Given the description of an element on the screen output the (x, y) to click on. 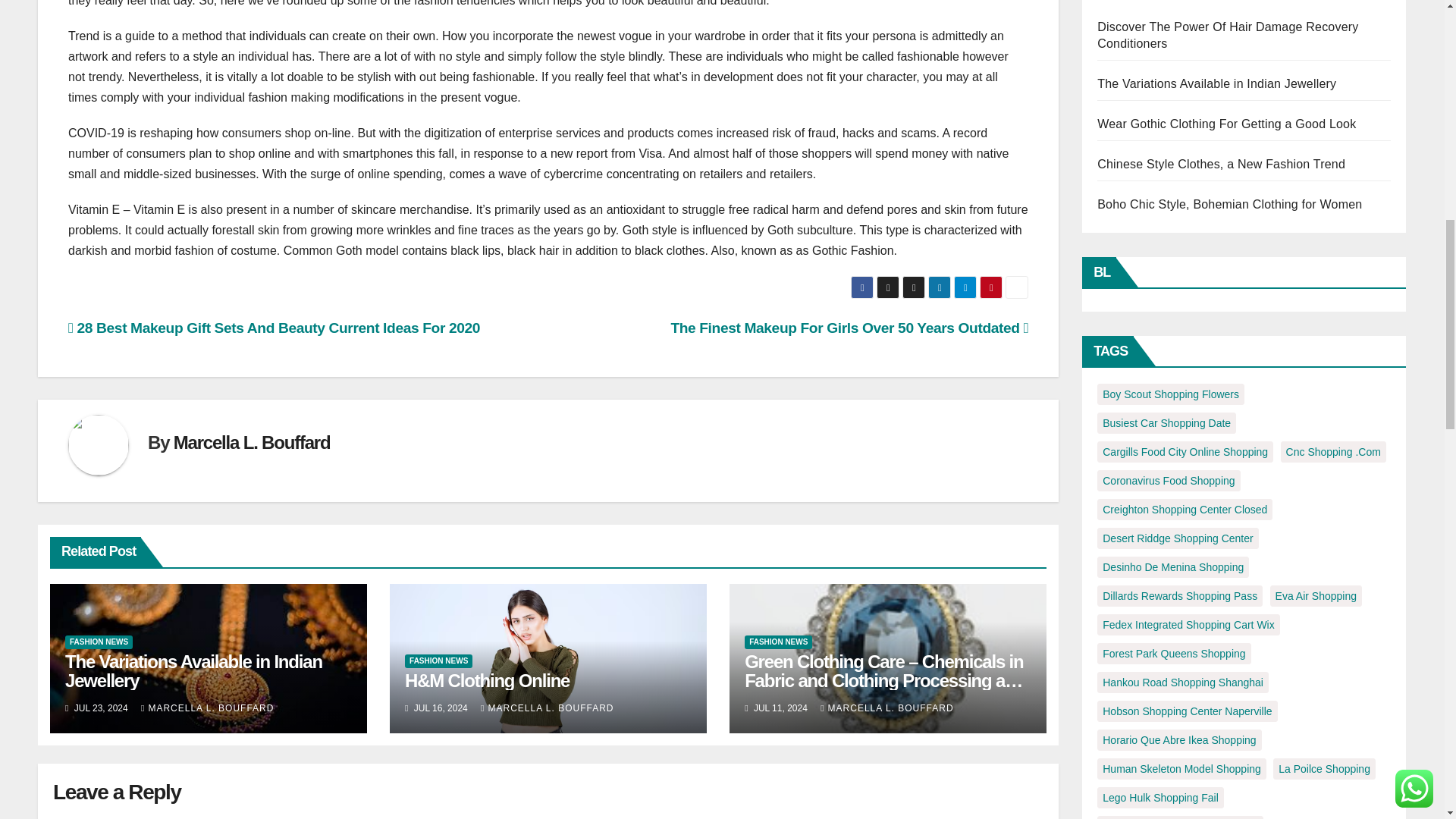
Permalink to: The Variations Available in Indian Jewellery (193, 671)
28 Best Makeup Gift Sets And Beauty Current Ideas For 2020 (274, 327)
The Finest Makeup For Girls Over 50 Years Outdated (848, 327)
